Given the description of an element on the screen output the (x, y) to click on. 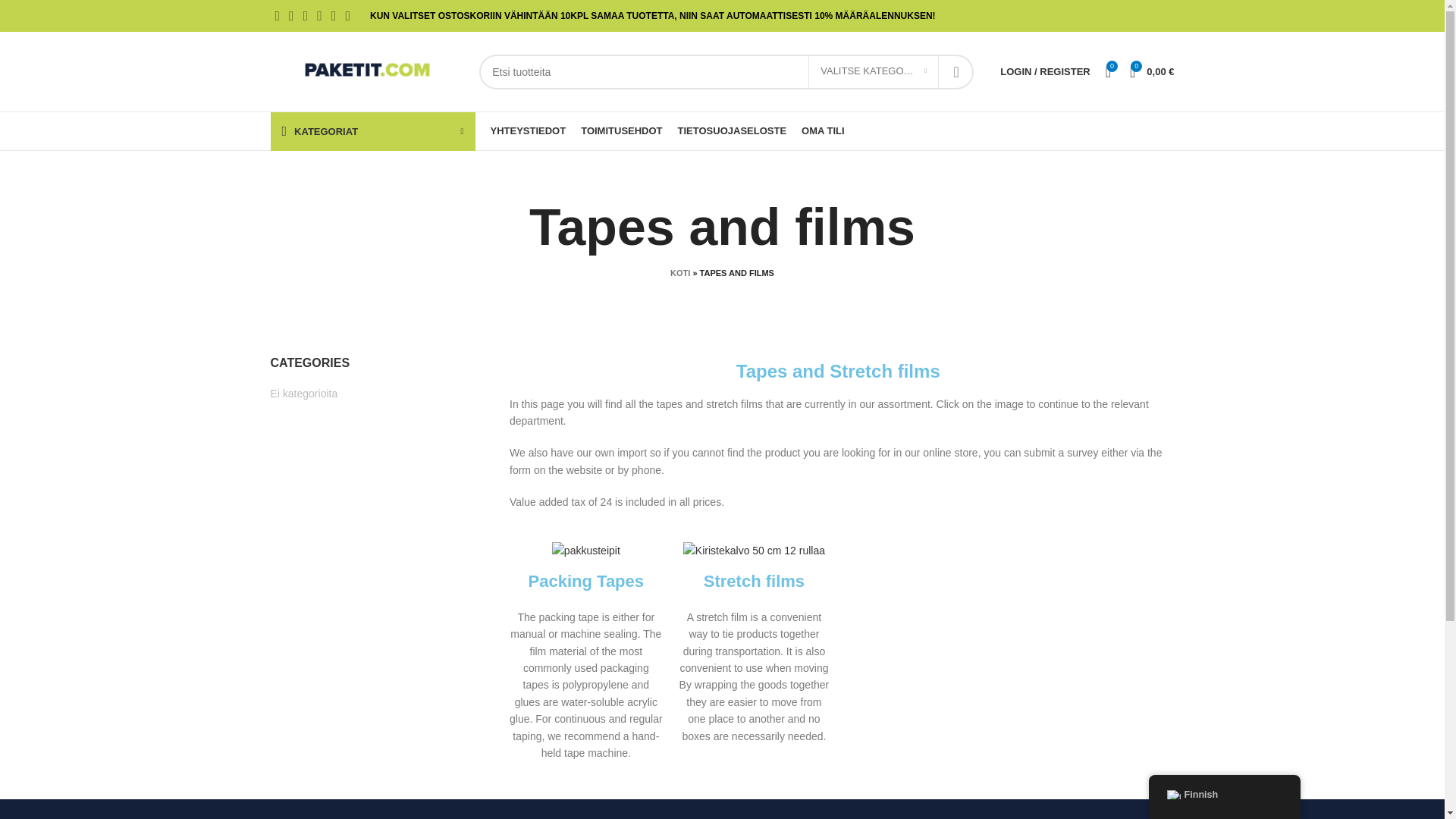
Finnish (1172, 794)
Oma Tili (1044, 71)
VALITSE KATEGORIA (873, 71)
Kiristerulla 50cm (753, 550)
VALITSE KATEGORIA (873, 71)
Etsi tuotteita (726, 71)
Ostoskori (1151, 71)
pakkusteipit (585, 550)
